Given the description of an element on the screen output the (x, y) to click on. 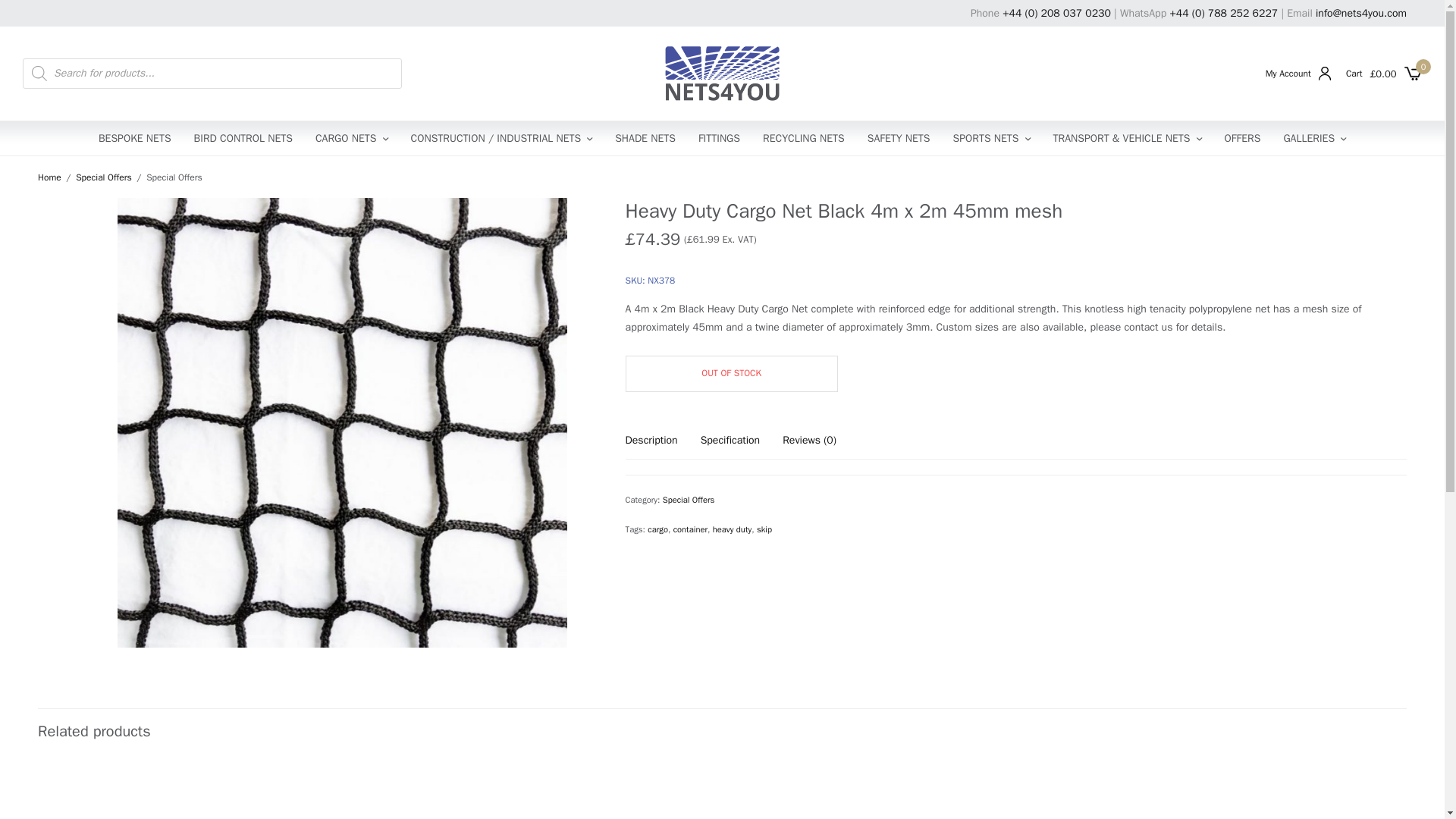
BIRD CONTROL NETS (242, 138)
SPORTS NETS (991, 138)
Elasticated Cargo Net 25cm x 82cm (142, 790)
FITTINGS (718, 138)
My Account (1297, 72)
CARGO NETS (351, 138)
My Account (1297, 72)
Cart (1353, 72)
Extra Heavy Duty Cargo Net 45mm Mesh Black (606, 790)
